Given the description of an element on the screen output the (x, y) to click on. 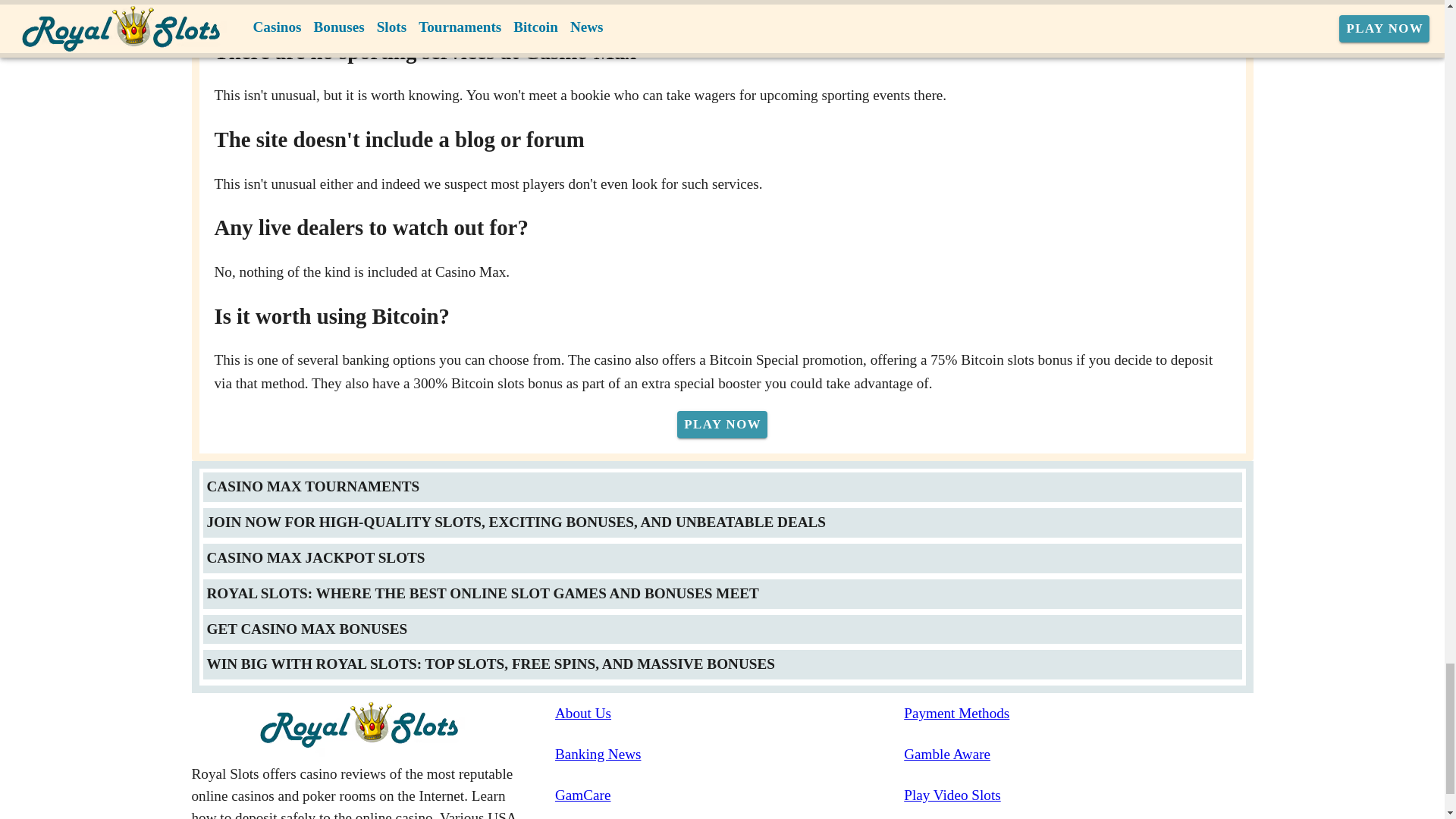
Banking News (729, 754)
Payment Methods (1078, 713)
Play Video Slots (1078, 795)
Gamble Aware (1078, 754)
About Us (729, 713)
PLAY NOW (722, 424)
GamCare (729, 795)
